Given the description of an element on the screen output the (x, y) to click on. 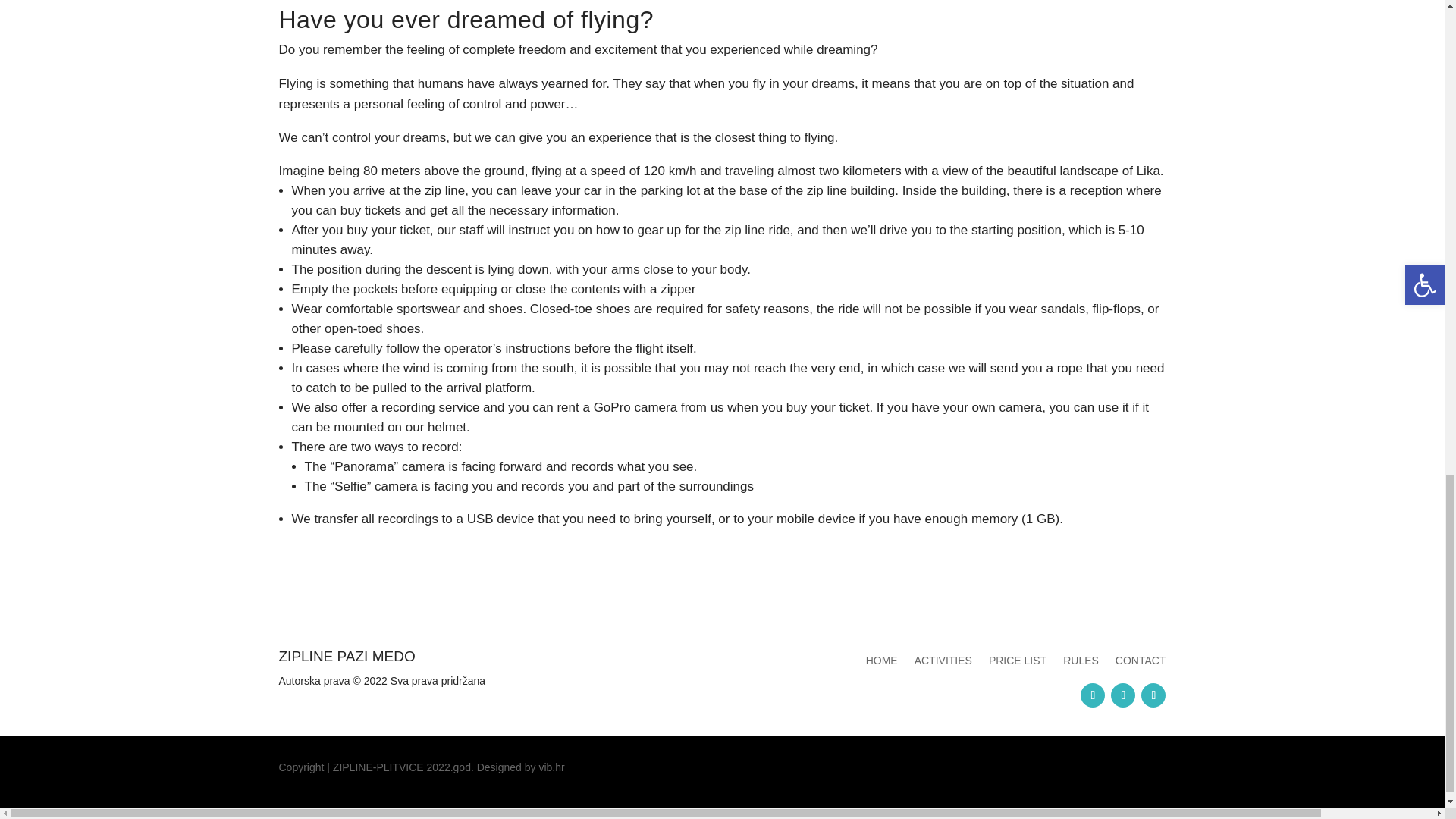
Follow on Facebook (1092, 695)
Follow on Instagram (1122, 695)
Follow on Youtube (1153, 695)
